Given the description of an element on the screen output the (x, y) to click on. 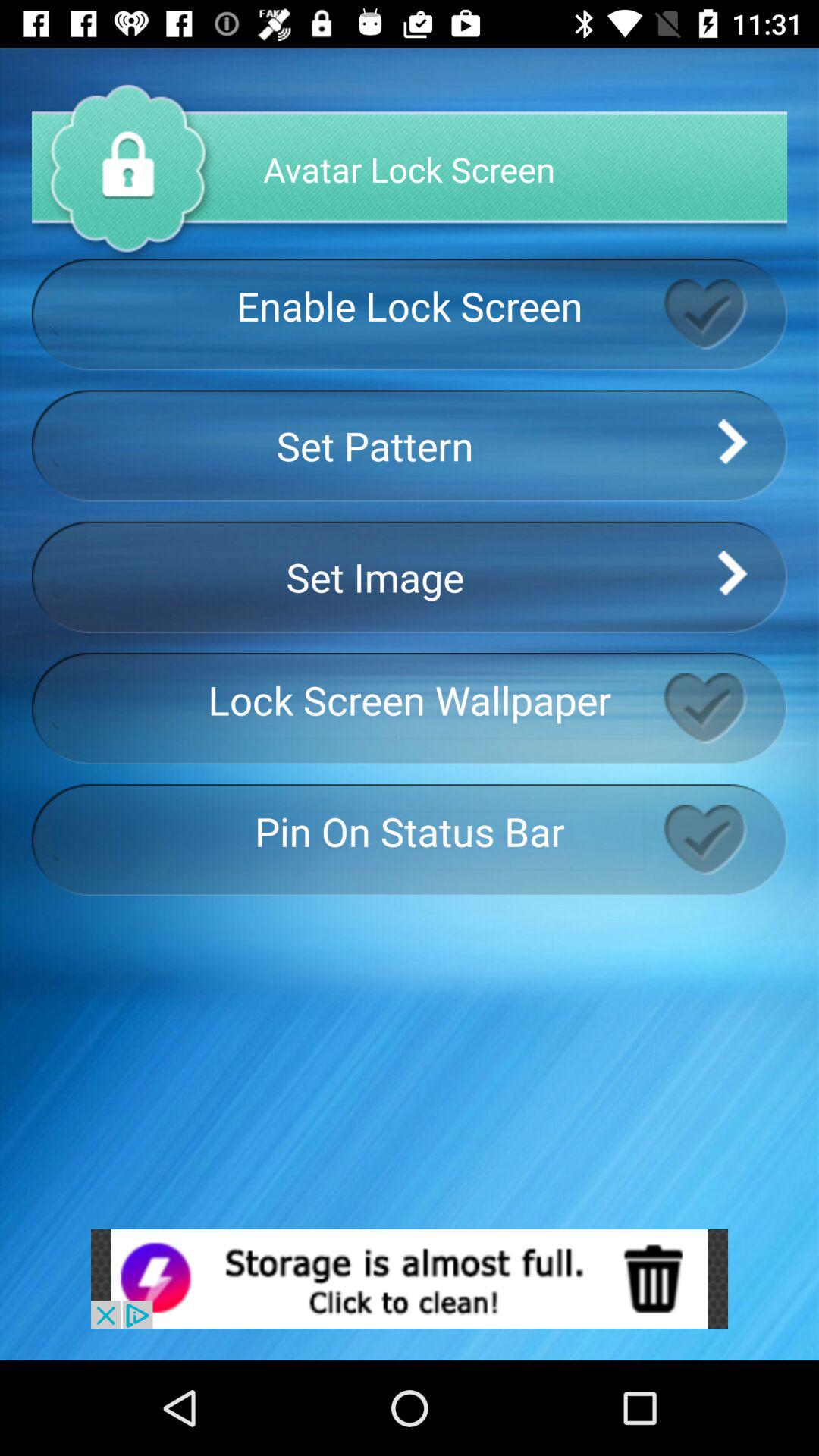
enable lock screen (725, 314)
